Given the description of an element on the screen output the (x, y) to click on. 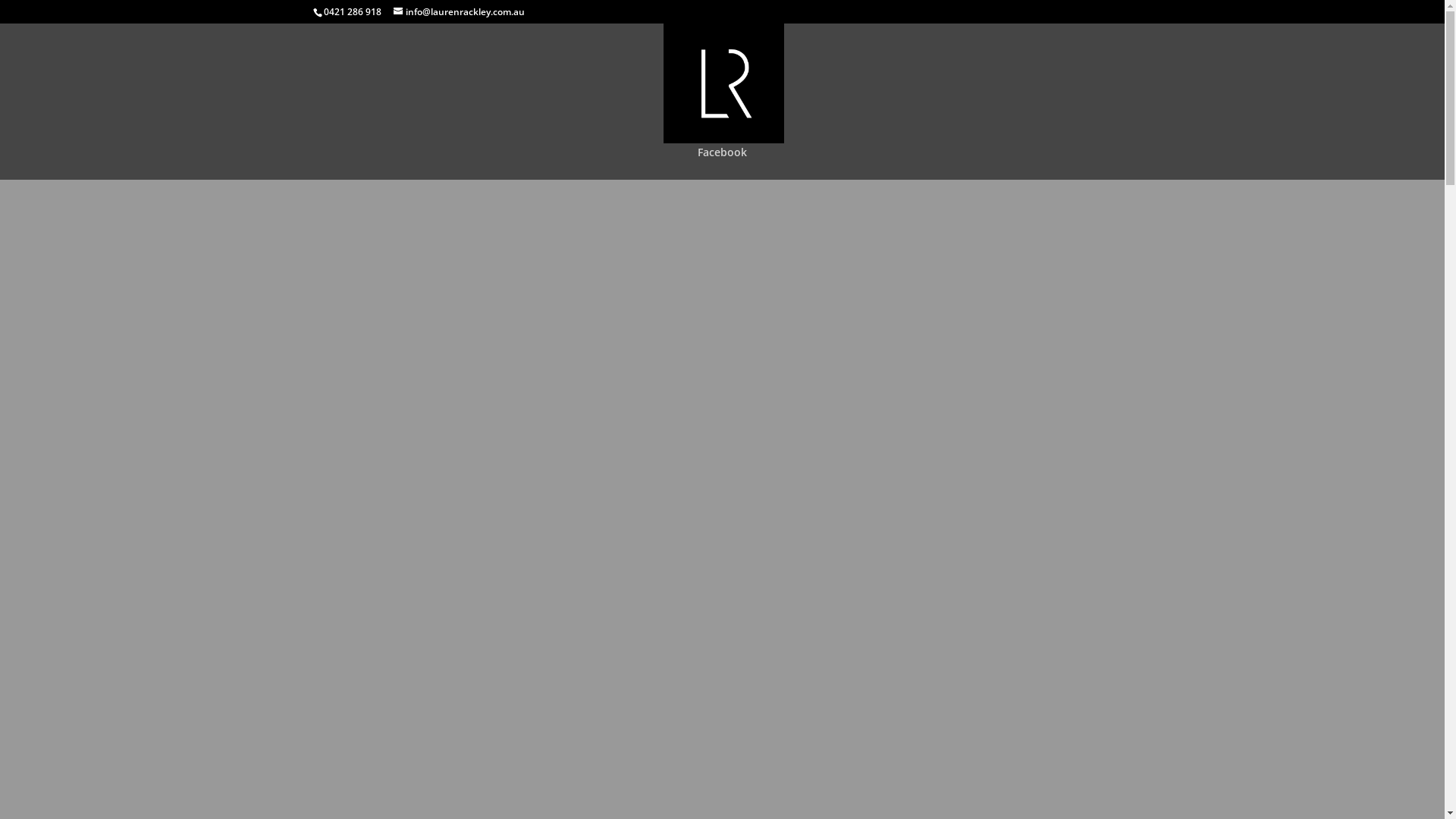
info@laurenrackley.com.au Element type: text (458, 11)
Facebook Element type: text (721, 163)
